Given the description of an element on the screen output the (x, y) to click on. 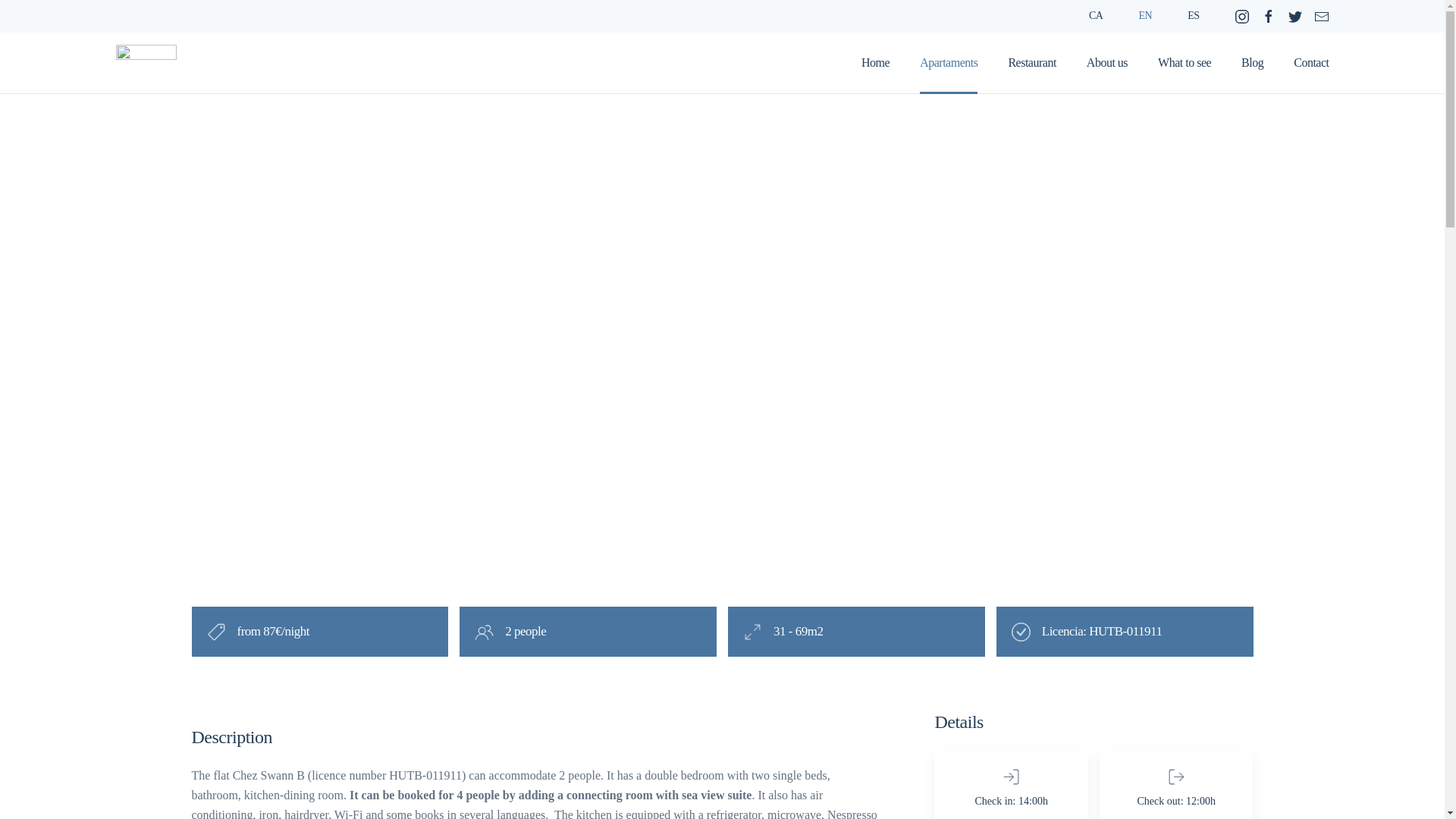
About us (1106, 62)
EN (1144, 16)
Home (875, 62)
APARTAMENT (310, 259)
Contact (1310, 62)
APARTAMENT (721, 259)
Apartaments (293, 336)
Chez Swann B (721, 296)
ES (1192, 16)
What to see (1184, 62)
Blog (721, 335)
Restaurant (1252, 62)
CA (1031, 62)
Apartaments (1095, 16)
